Given the description of an element on the screen output the (x, y) to click on. 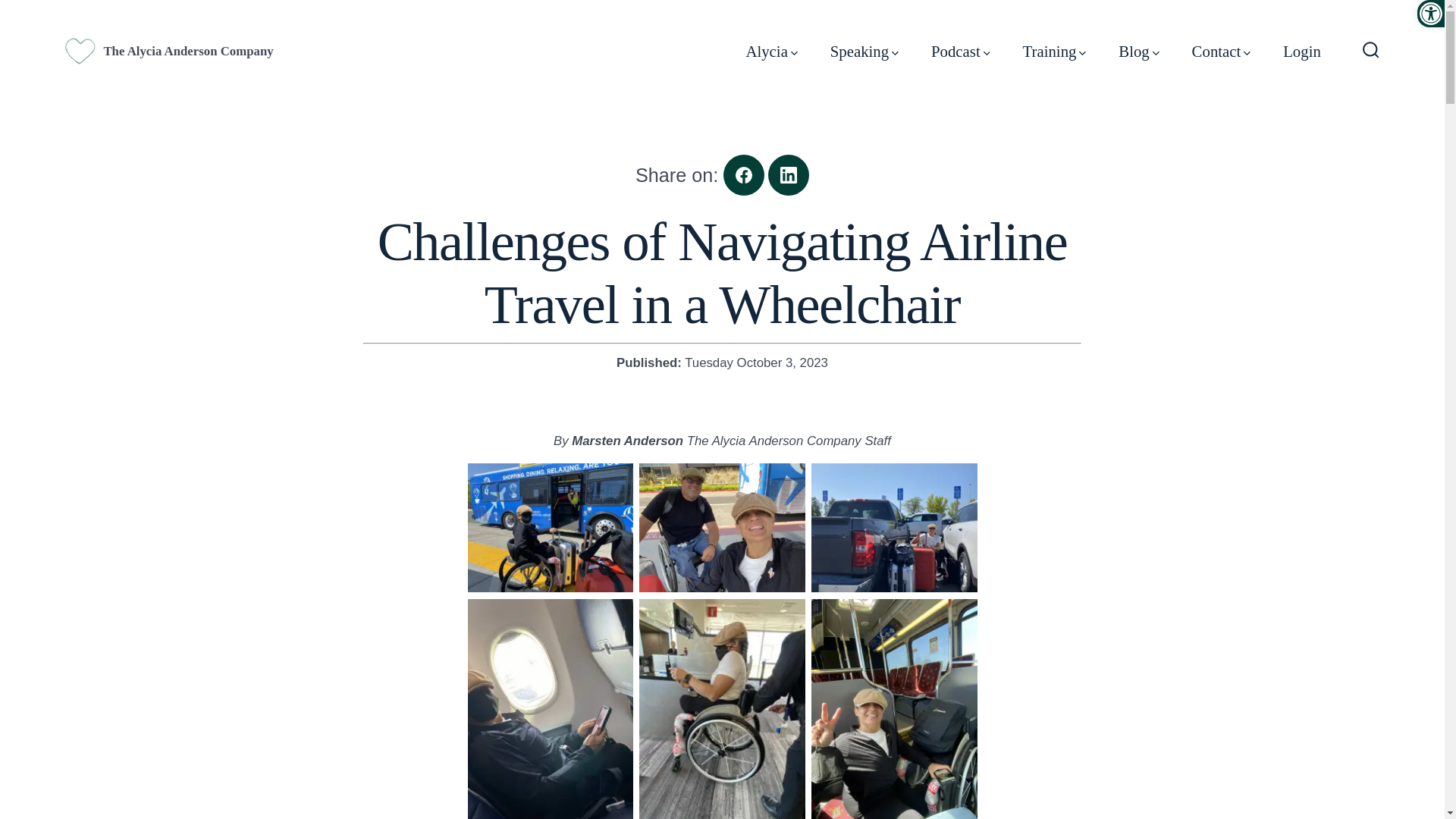
Blog (1138, 51)
Podcast (960, 51)
Contact (1221, 51)
The Alycia Anderson Company (184, 51)
Speaking (863, 51)
Alycia (770, 51)
Training (1054, 51)
Facebook (743, 174)
Search Toggle (1371, 50)
Linkedin (788, 174)
Accessibility Tools (1430, 13)
Login (1301, 51)
